Given the description of an element on the screen output the (x, y) to click on. 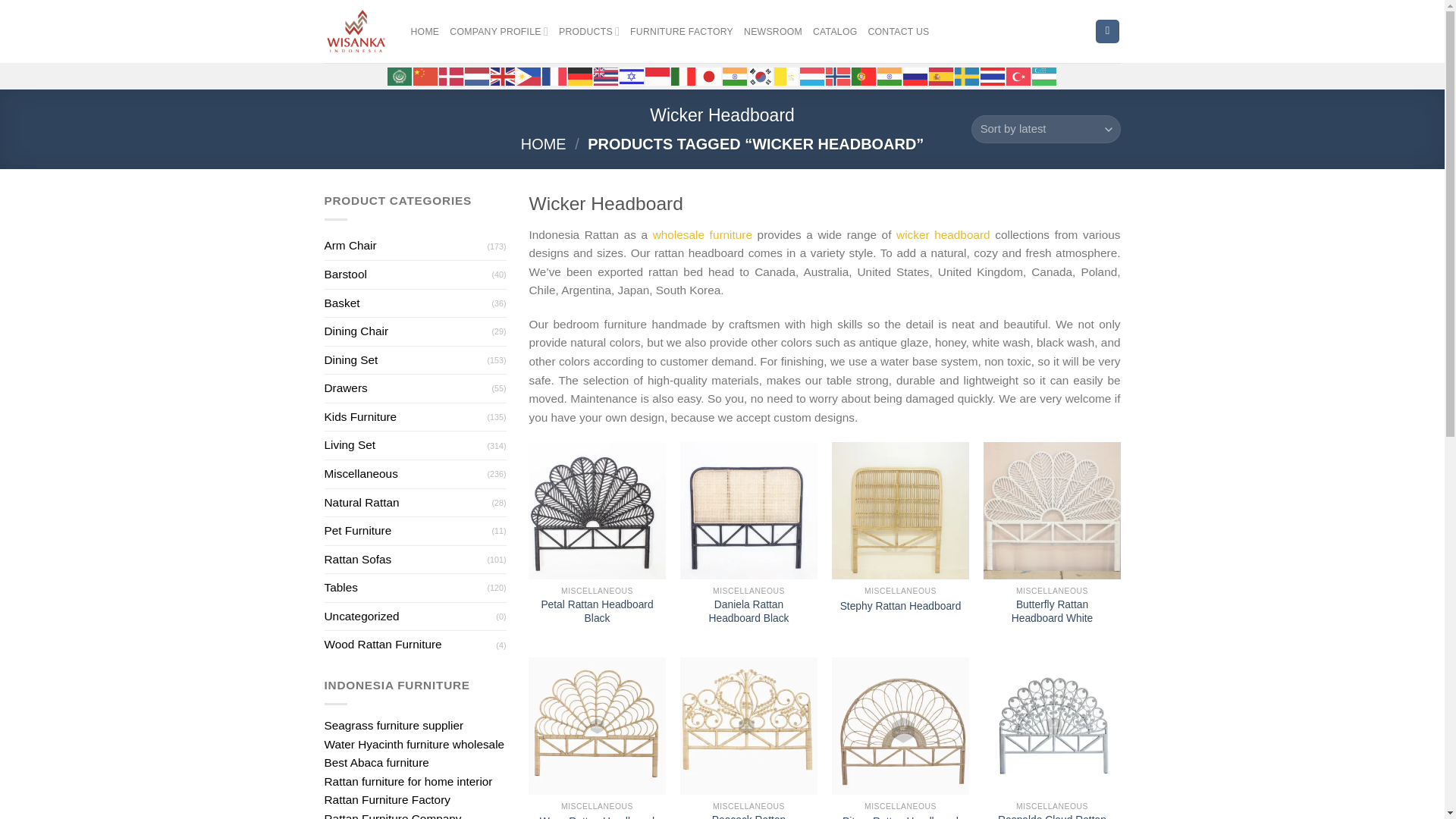
Hawaiian (605, 75)
Japanese (708, 75)
Filipino (528, 75)
PRODUCTS (589, 30)
Dutch (476, 75)
HOME (424, 31)
Danish (451, 75)
COMPANY PROFILE (498, 30)
Kannada (735, 75)
NEWSROOM (773, 31)
